Given the description of an element on the screen output the (x, y) to click on. 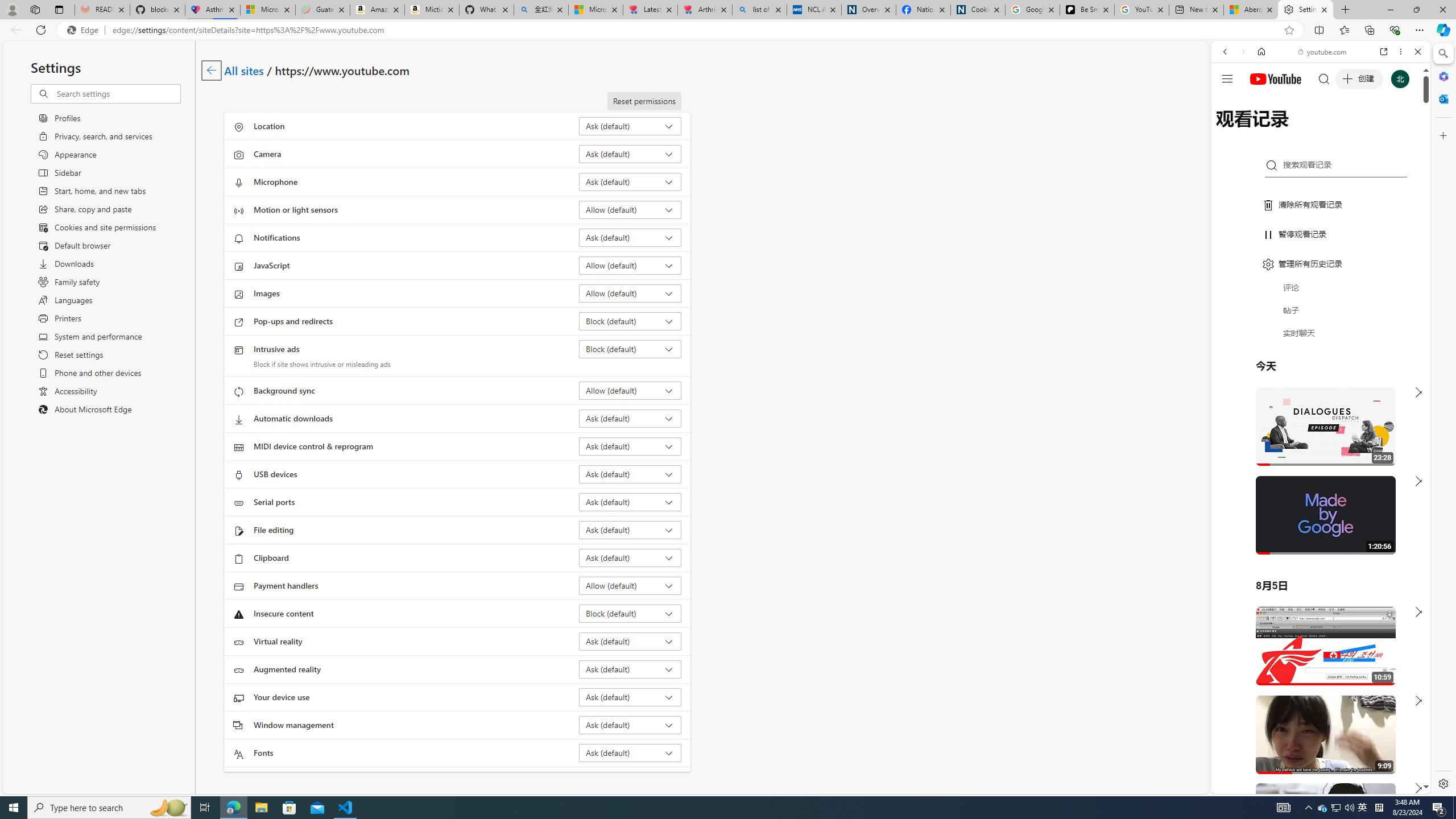
YouTube - YouTube (1315, 560)
you (1315, 755)
Images Allow (default) (630, 293)
youtube.com (1322, 51)
File editing Ask (default) (630, 529)
Music (1320, 309)
Trailer #2 [HD] (1320, 336)
